Given the description of an element on the screen output the (x, y) to click on. 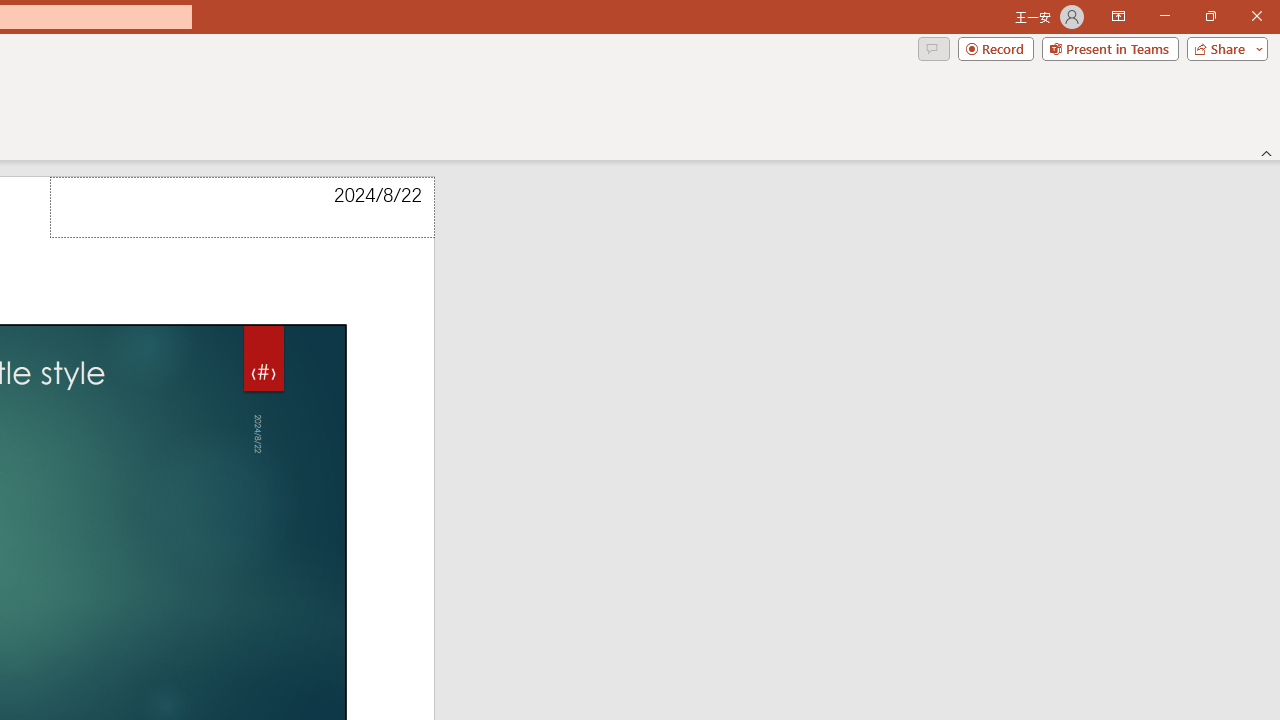
Date (242, 207)
